Given the description of an element on the screen output the (x, y) to click on. 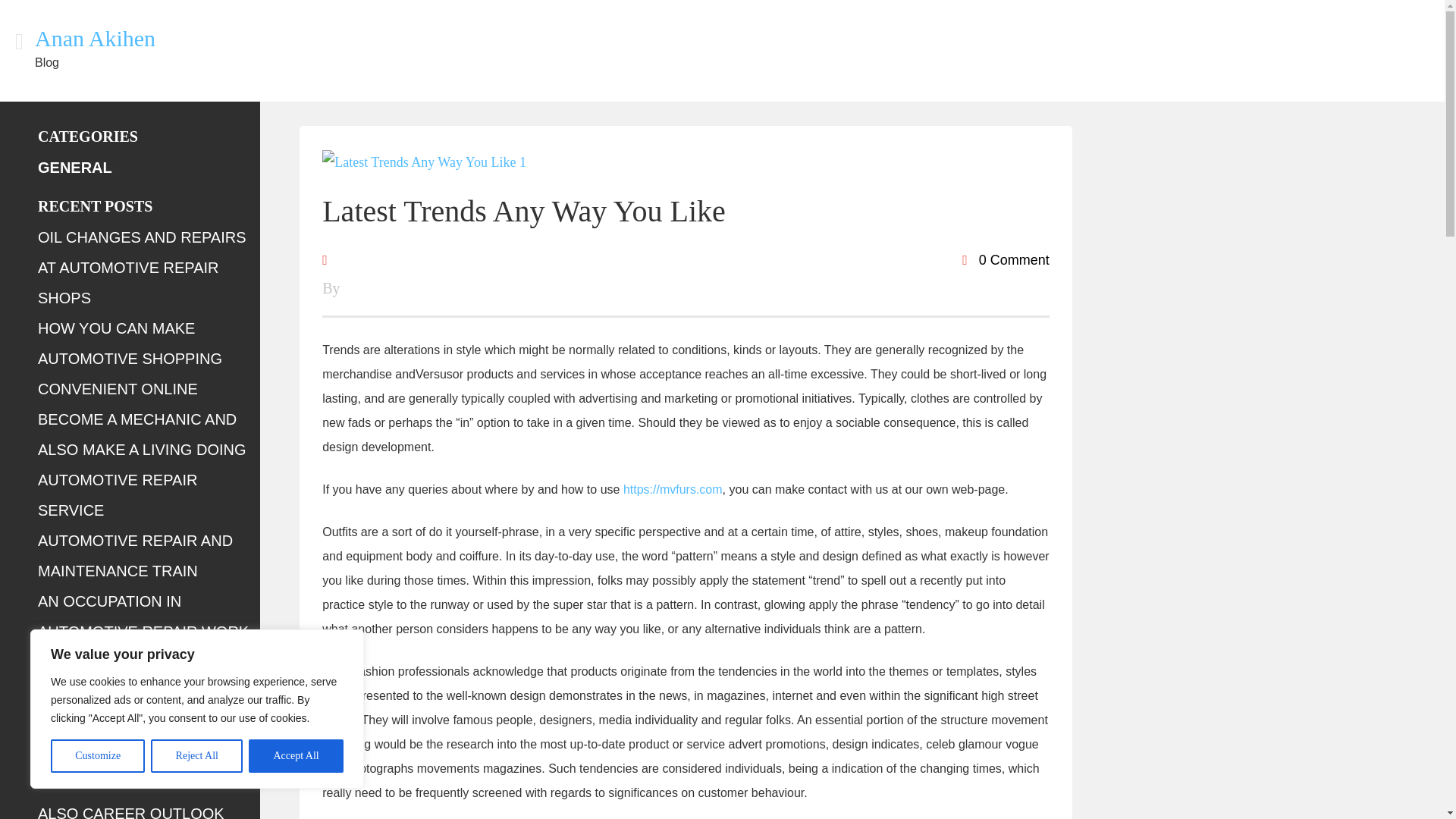
HOW YOU CAN MAKE AUTOMOTIVE SHOPPING CONVENIENT ONLINE (129, 358)
0 Comment (1005, 259)
GENERAL (74, 167)
Accept All (295, 756)
Anan Akihen (94, 37)
Reject All (197, 756)
Customize (97, 756)
OIL CHANGES AND REPAIRS AT AUTOMOTIVE REPAIR SHOPS (141, 267)
